Given the description of an element on the screen output the (x, y) to click on. 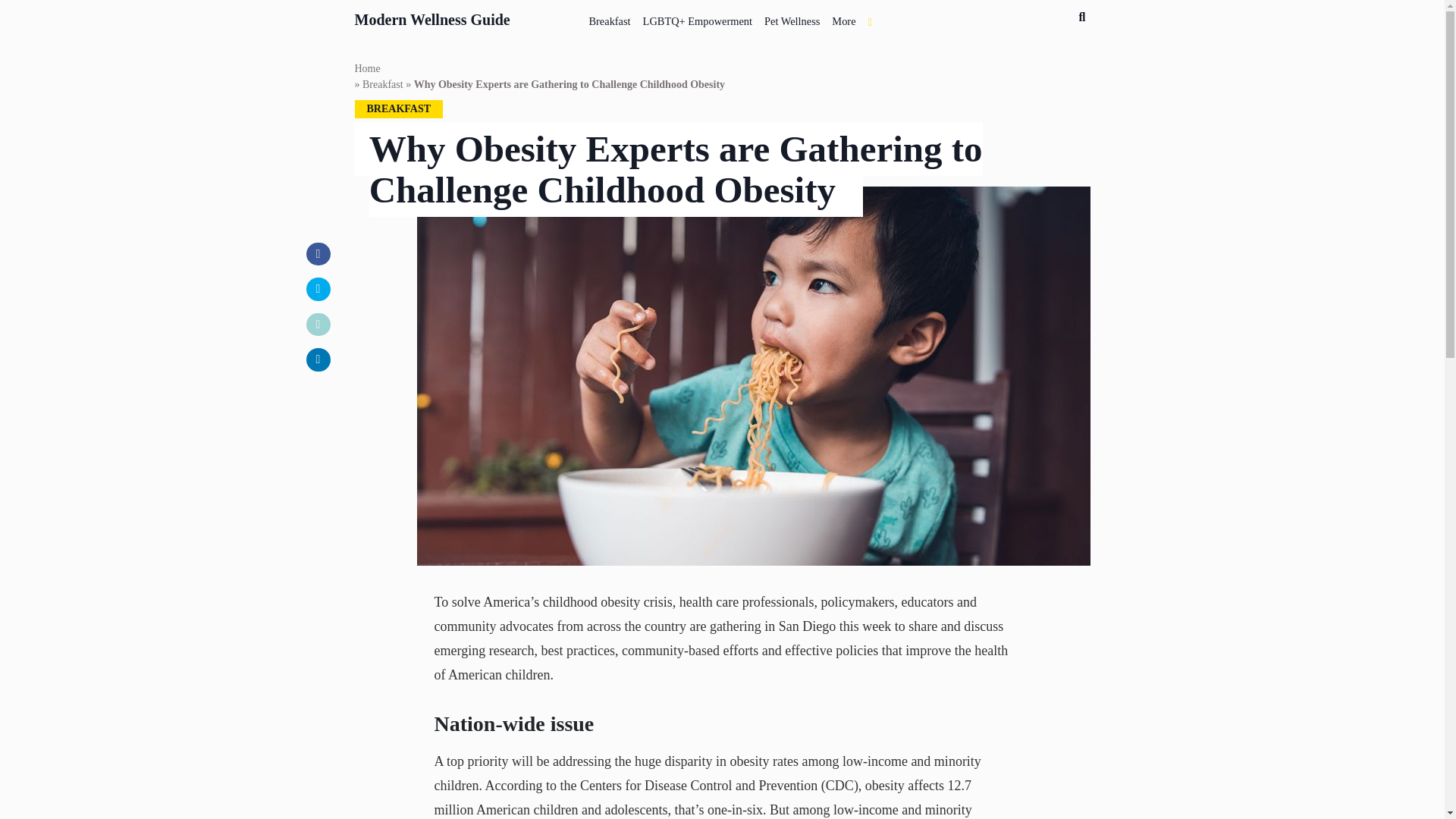
Breakfast (609, 18)
More (843, 18)
Modern Wellness Guide (433, 17)
Pet Wellness (791, 18)
